Given the description of an element on the screen output the (x, y) to click on. 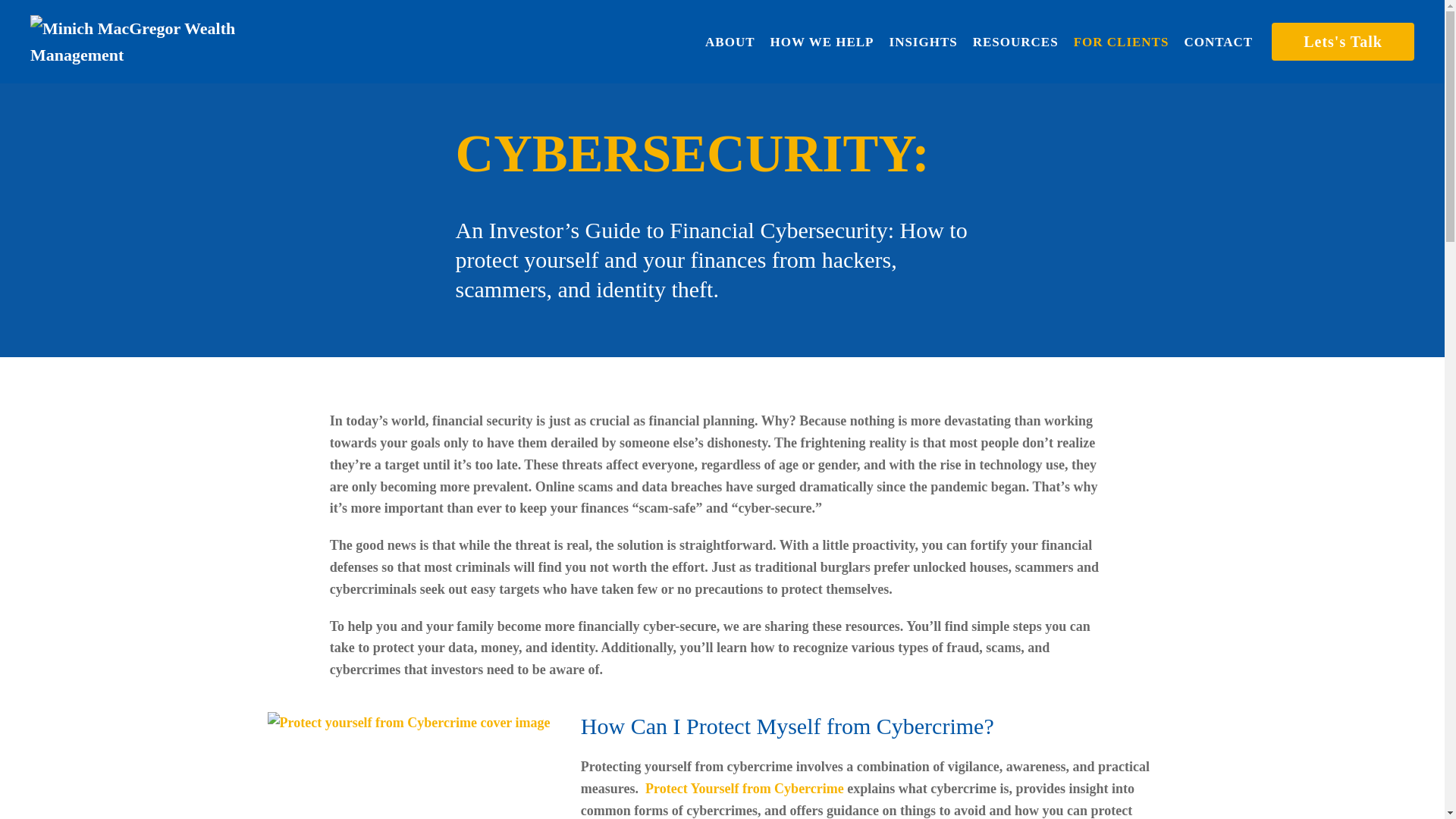
ABOUT (729, 41)
INSIGHTS (923, 41)
HOW WE HELP (822, 41)
